Given the description of an element on the screen output the (x, y) to click on. 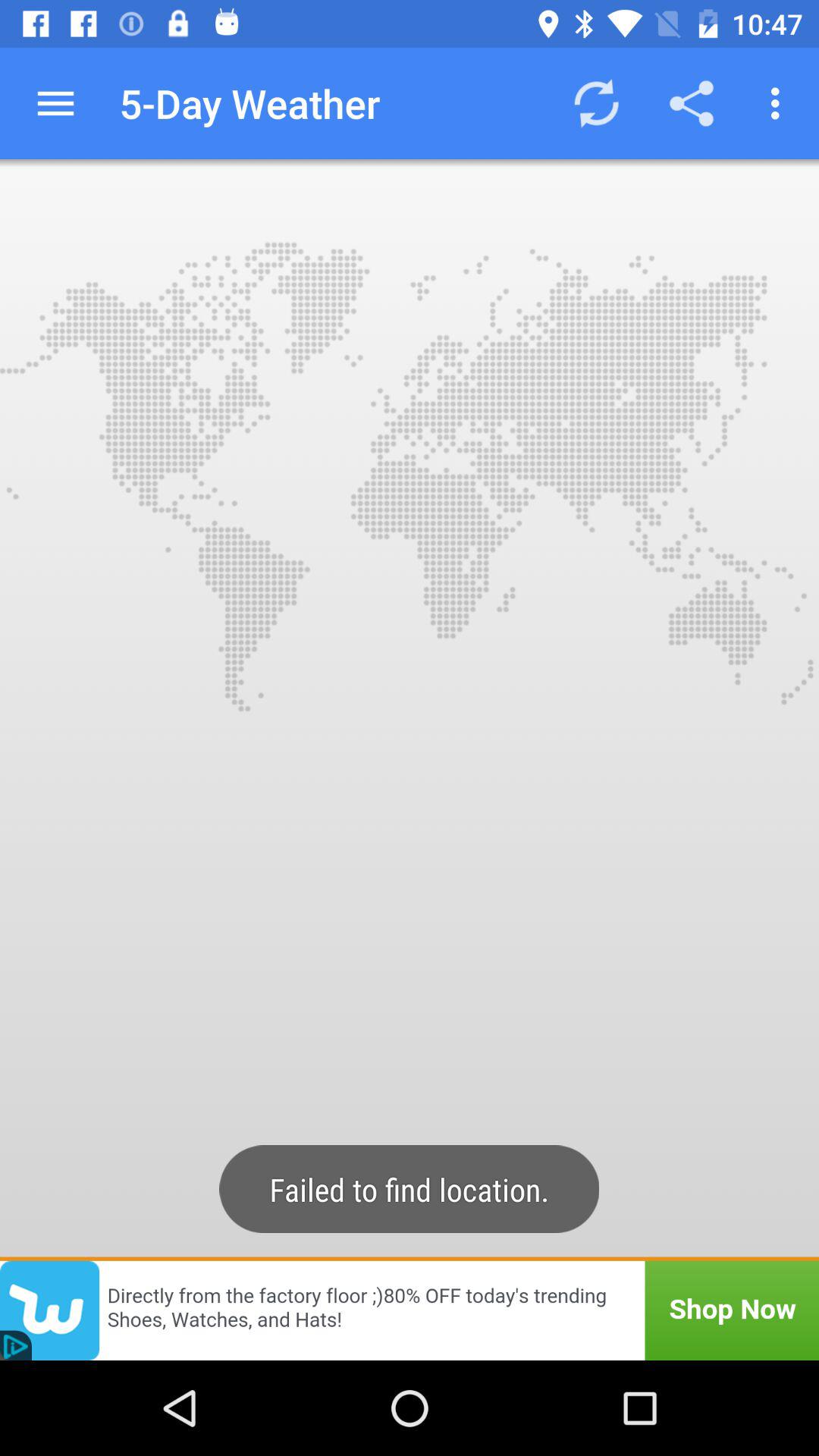
click app next to 5-day weather icon (595, 103)
